Given the description of an element on the screen output the (x, y) to click on. 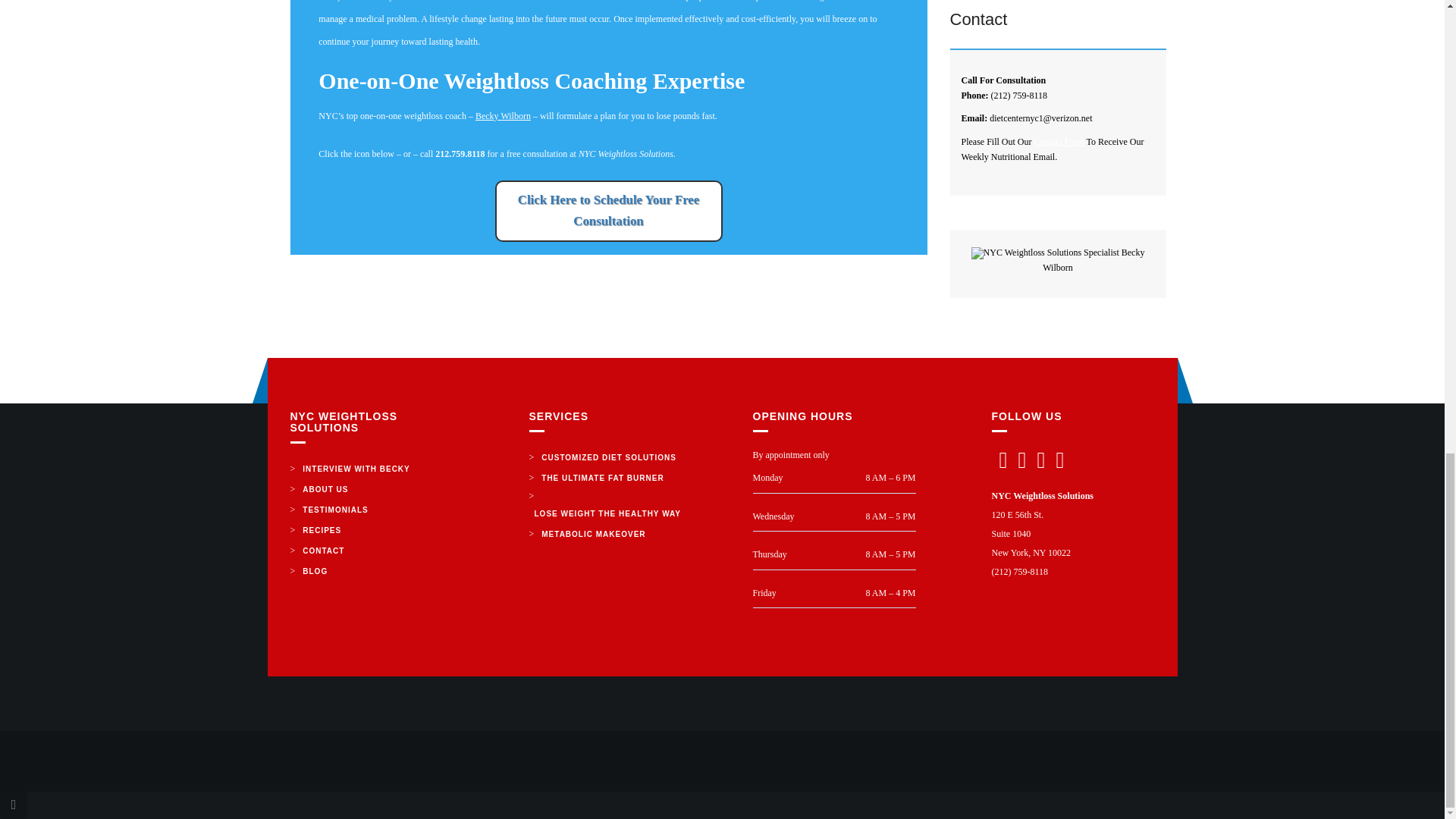
INTERVIEW WITH BECKY (355, 468)
Becky Wilborn (503, 115)
METABOLIC MAKEOVER (592, 534)
CUSTOMIZED DIET SOLUTIONS (608, 457)
ABOUT US (325, 489)
LOSE WEIGHT THE HEALTHY WAY (608, 513)
Contact Form (1058, 141)
BLOG (315, 571)
RECIPES (321, 530)
TESTIMONIALS (334, 509)
THE ULTIMATE FAT BURNER (601, 477)
CONTACT (323, 550)
Click Here to Schedule Your Free Consultation (608, 210)
